Given the description of an element on the screen output the (x, y) to click on. 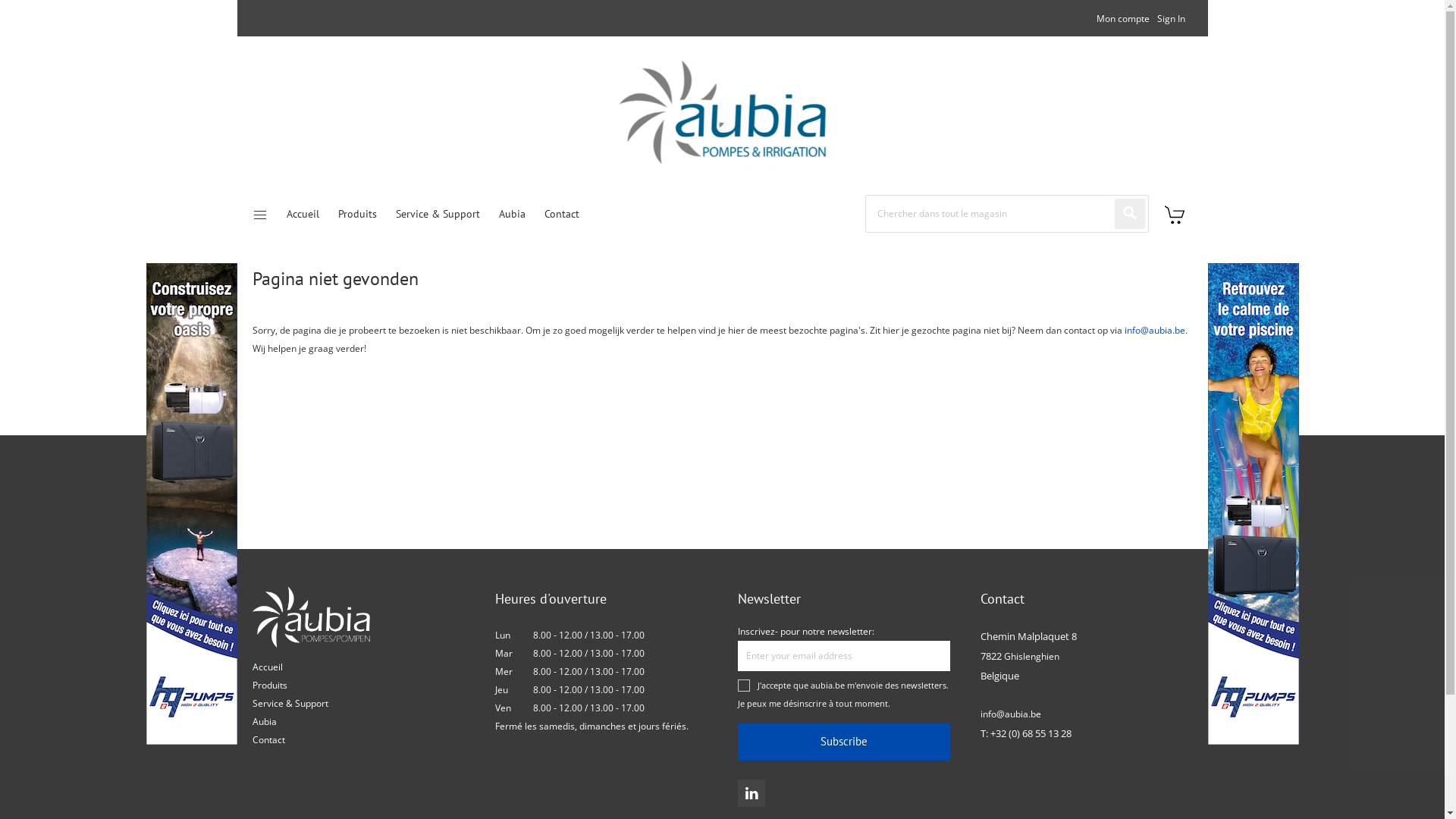
info@aubia.be Element type: text (1153, 329)
Accueil Element type: text (302, 213)
Accueil Element type: text (266, 666)
Aubia Element type: hover (486, 111)
Service & Support Element type: text (289, 702)
Service & Support Element type: text (437, 213)
Aubia Element type: text (263, 721)
Subscribe Element type: text (843, 741)
Aubia Element type: text (511, 213)
Produits Element type: text (357, 213)
Contact Element type: text (267, 739)
Mon compte Element type: text (1122, 18)
Contact Element type: text (561, 213)
Produits Element type: text (268, 684)
Search Element type: hover (1129, 213)
info@aubia.be Element type: text (1009, 713)
Sign In Element type: text (1171, 18)
